Given the description of an element on the screen output the (x, y) to click on. 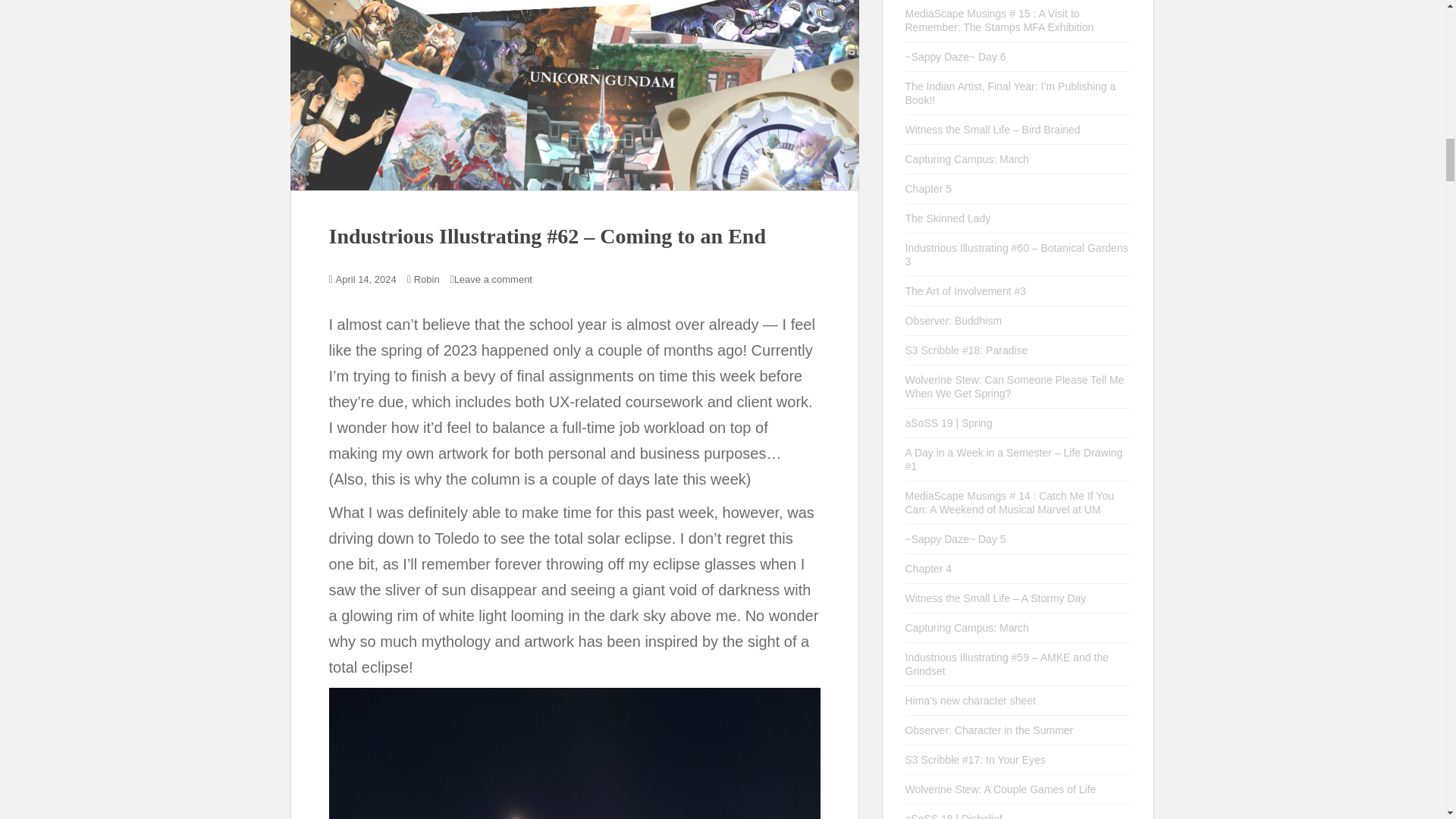
Robin (426, 279)
April 14, 2024 (366, 279)
Leave a comment (493, 279)
